Given the description of an element on the screen output the (x, y) to click on. 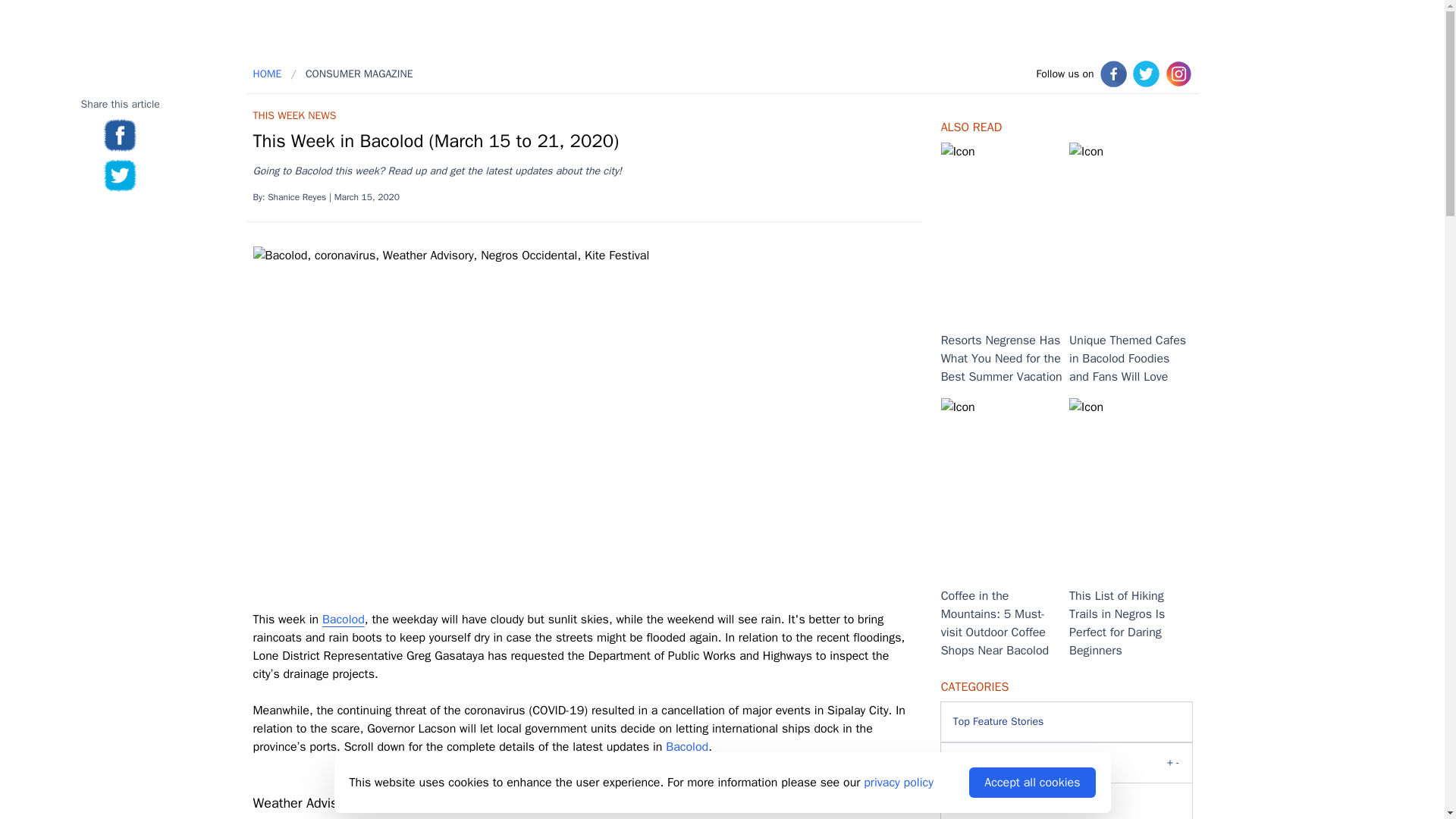
Facebook (119, 175)
Instagram (1177, 73)
Facebook (119, 134)
Twitter (1145, 73)
Facebook (1112, 73)
